Given the description of an element on the screen output the (x, y) to click on. 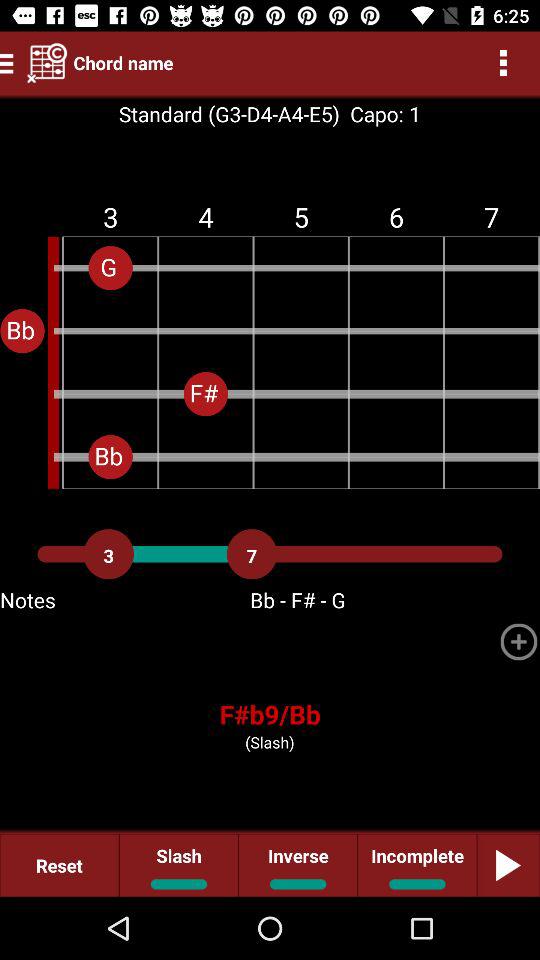
open item next to standard g3 d4 (379, 113)
